Given the description of an element on the screen output the (x, y) to click on. 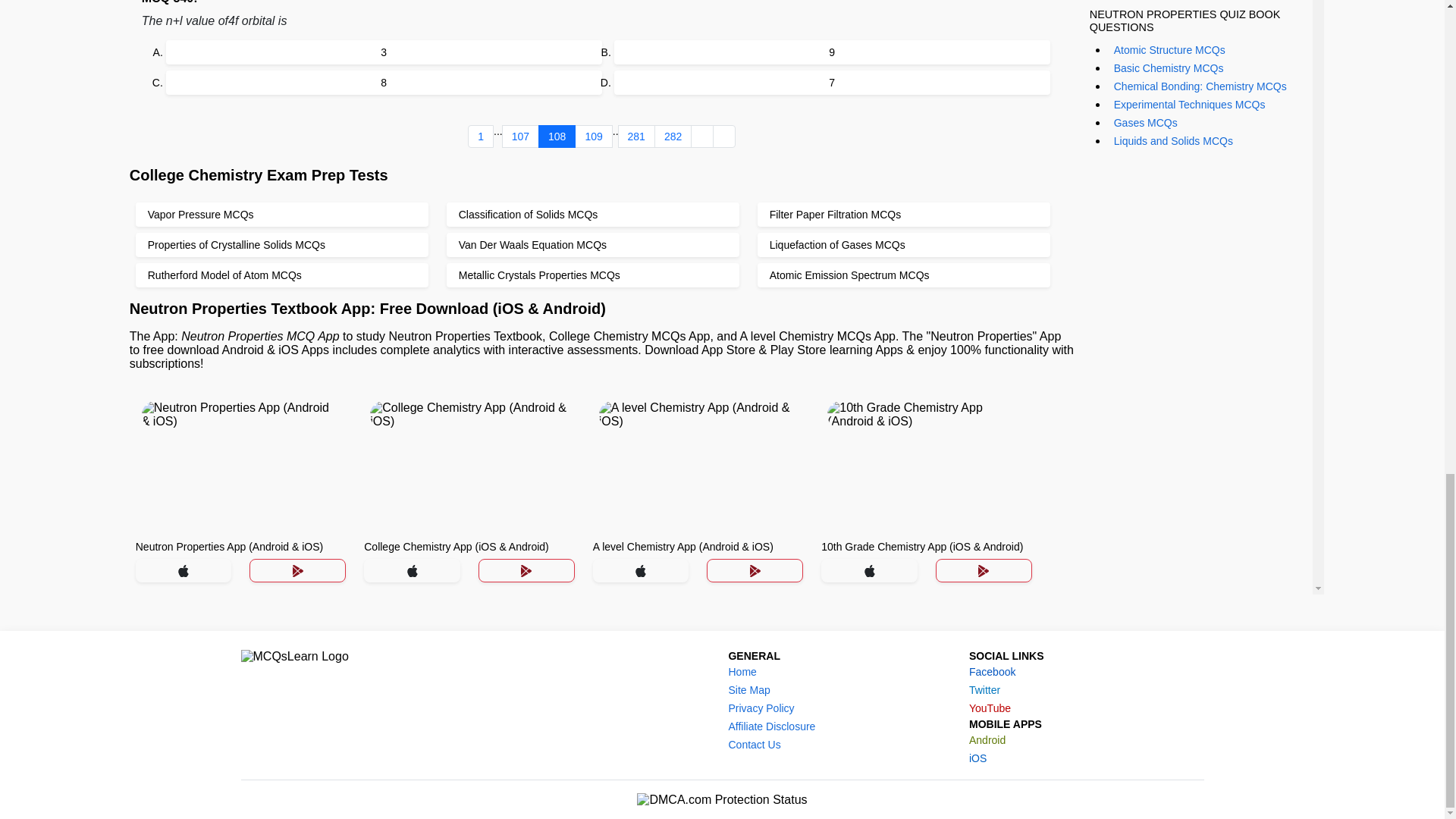
DMCA.com Protection Status (721, 799)
